Given the description of an element on the screen output the (x, y) to click on. 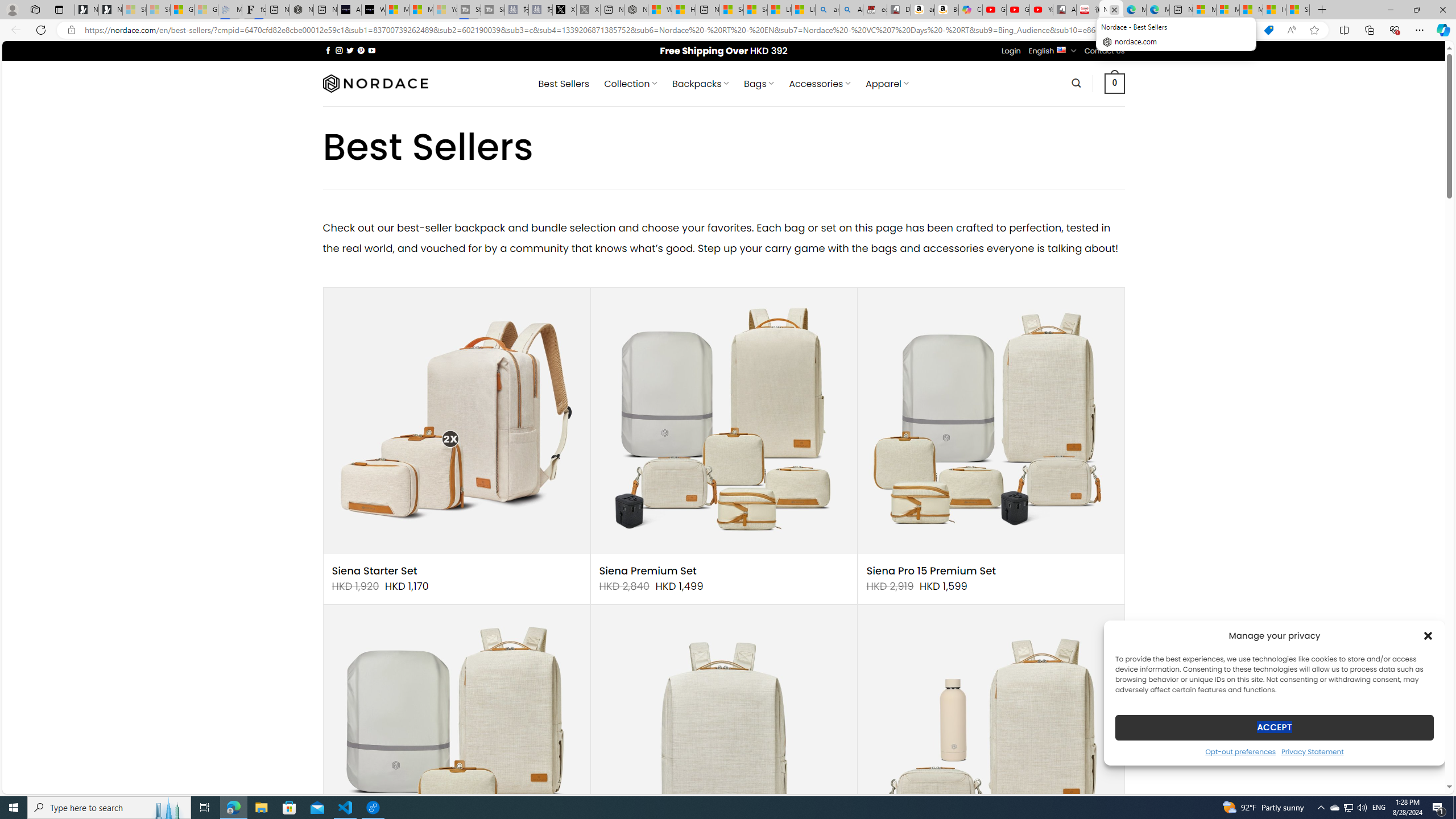
Restore (1416, 9)
Split screen (1344, 29)
Copilot (970, 9)
Address and search bar (669, 29)
Siena Pro 15 Premium Set (930, 571)
Follow on Twitter (349, 49)
AI Voice Changer for PC and Mac - Voice.ai (349, 9)
Minimize (1390, 9)
Login (1010, 50)
Follow on Instagram (338, 49)
Login (1010, 50)
Gloom - YouTube (1018, 9)
